Given the description of an element on the screen output the (x, y) to click on. 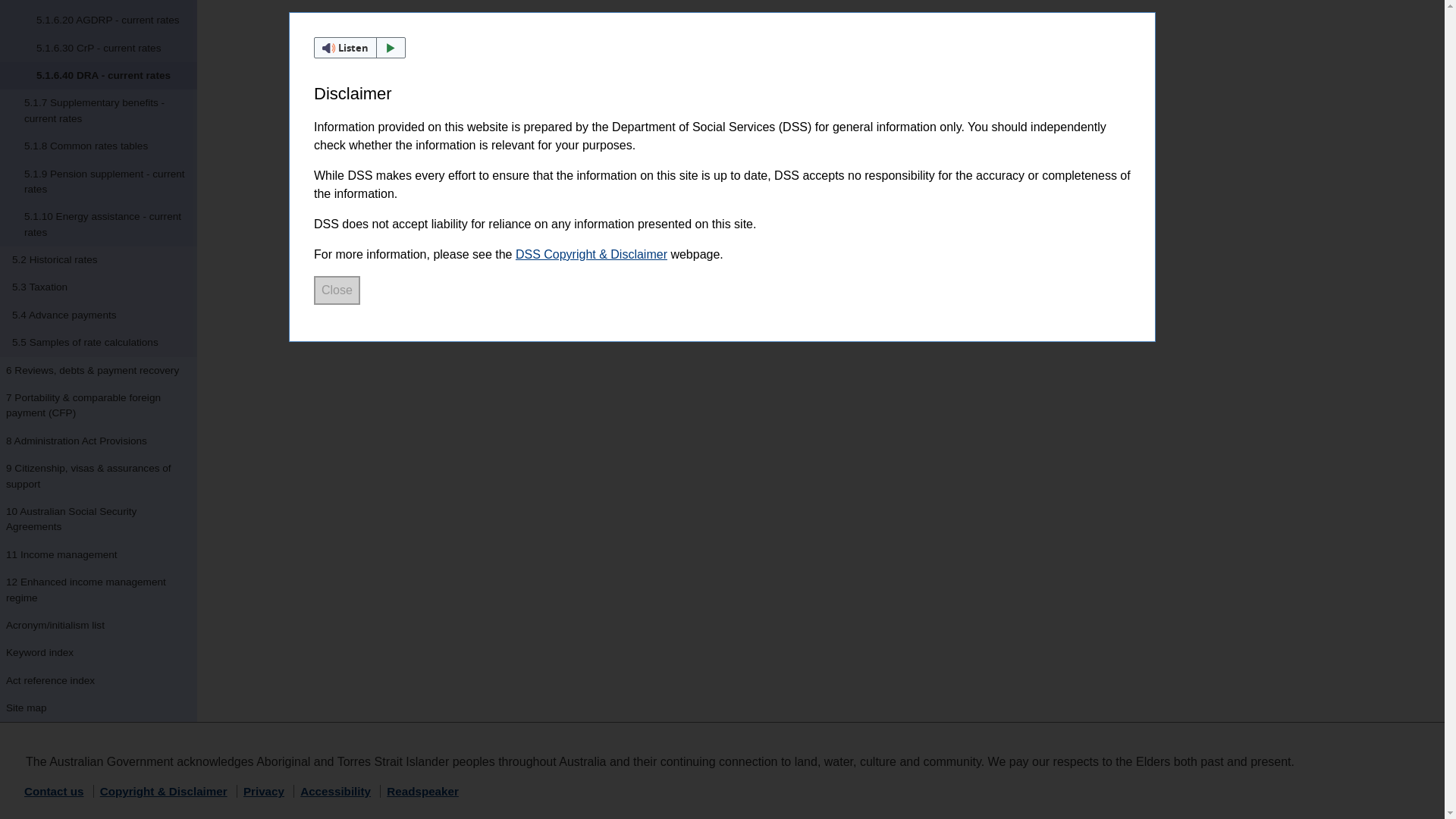
5.1.6.30 CrP - current rates (98, 48)
5.1.7 Supplementary benefits - current rates (98, 110)
5.1.6.10 SpB - current rates (98, 3)
5.1.6.20 AGDRP - current rates (98, 20)
5.1.6.40 DRA - current rates (98, 75)
5.1.8 Common rates tables (98, 145)
